Given the description of an element on the screen output the (x, y) to click on. 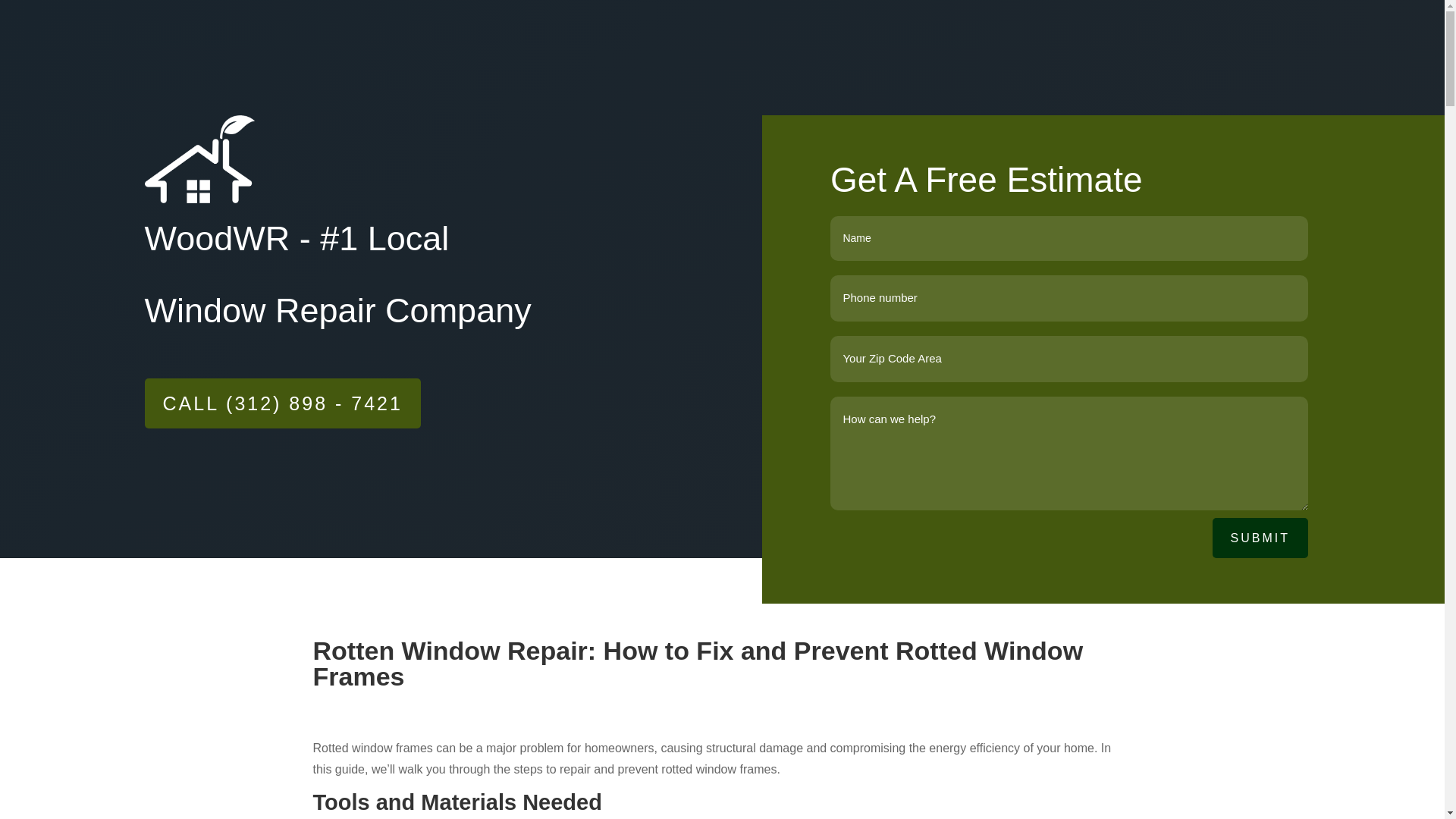
Only numbers allowed. (1068, 358)
SUBMIT (1259, 537)
logo window repair (198, 159)
